Given the description of an element on the screen output the (x, y) to click on. 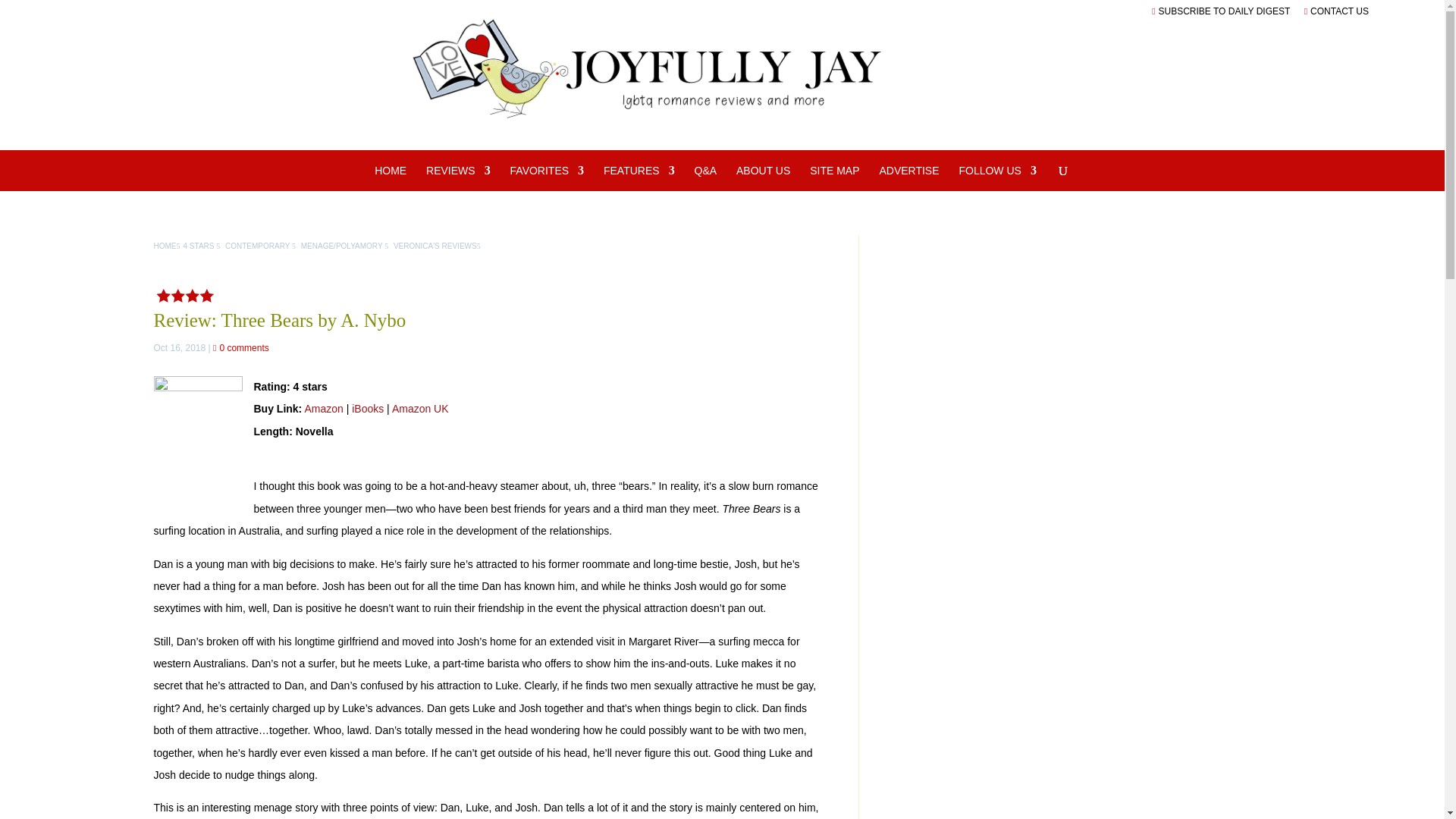
CONTACT US (1336, 10)
HOME (390, 177)
REVIEWS (458, 177)
SUBSCRIBE TO DAILY DIGEST (1220, 10)
